Given the description of an element on the screen output the (x, y) to click on. 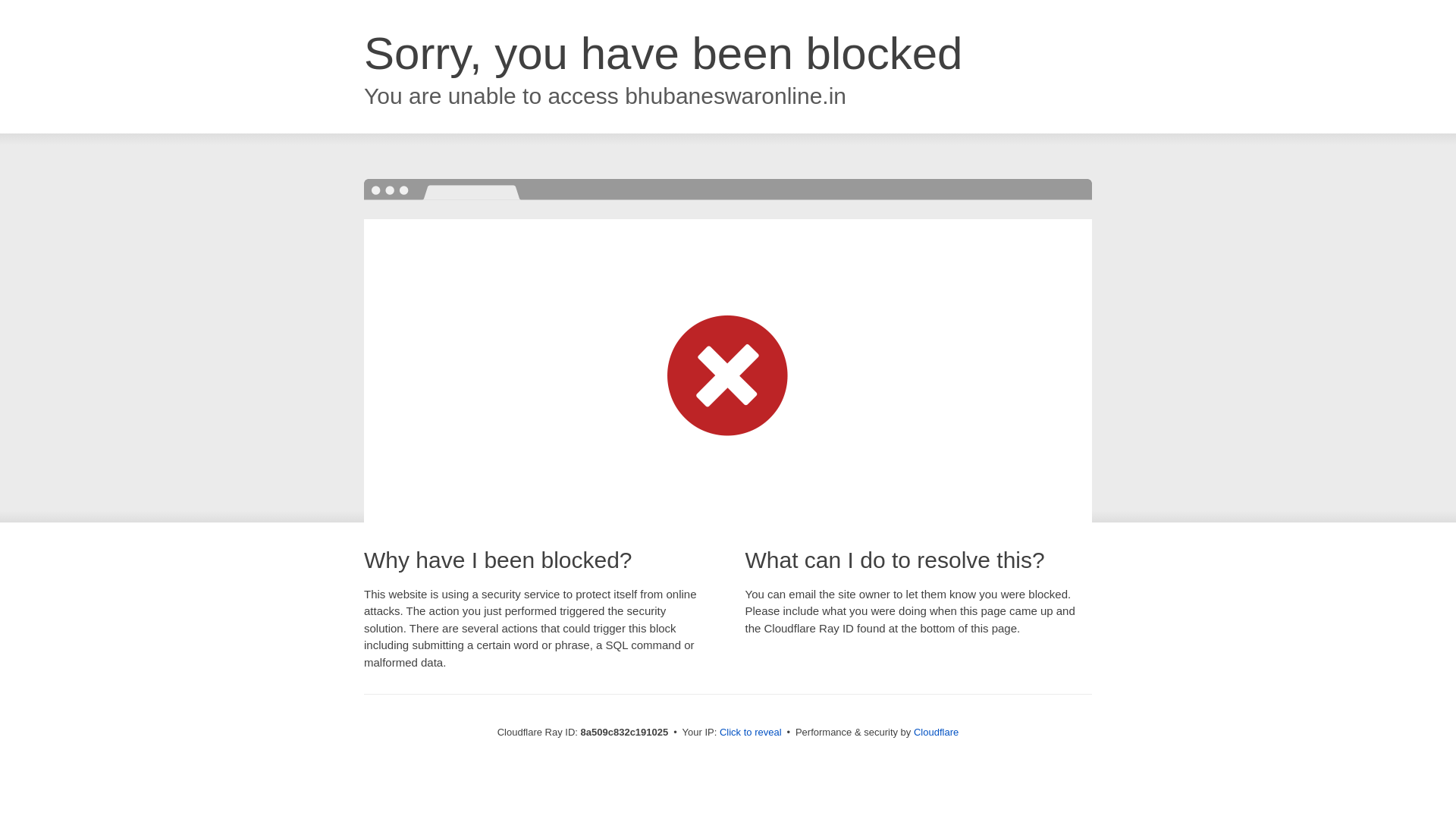
Click to reveal (750, 732)
Cloudflare (936, 731)
